Given the description of an element on the screen output the (x, y) to click on. 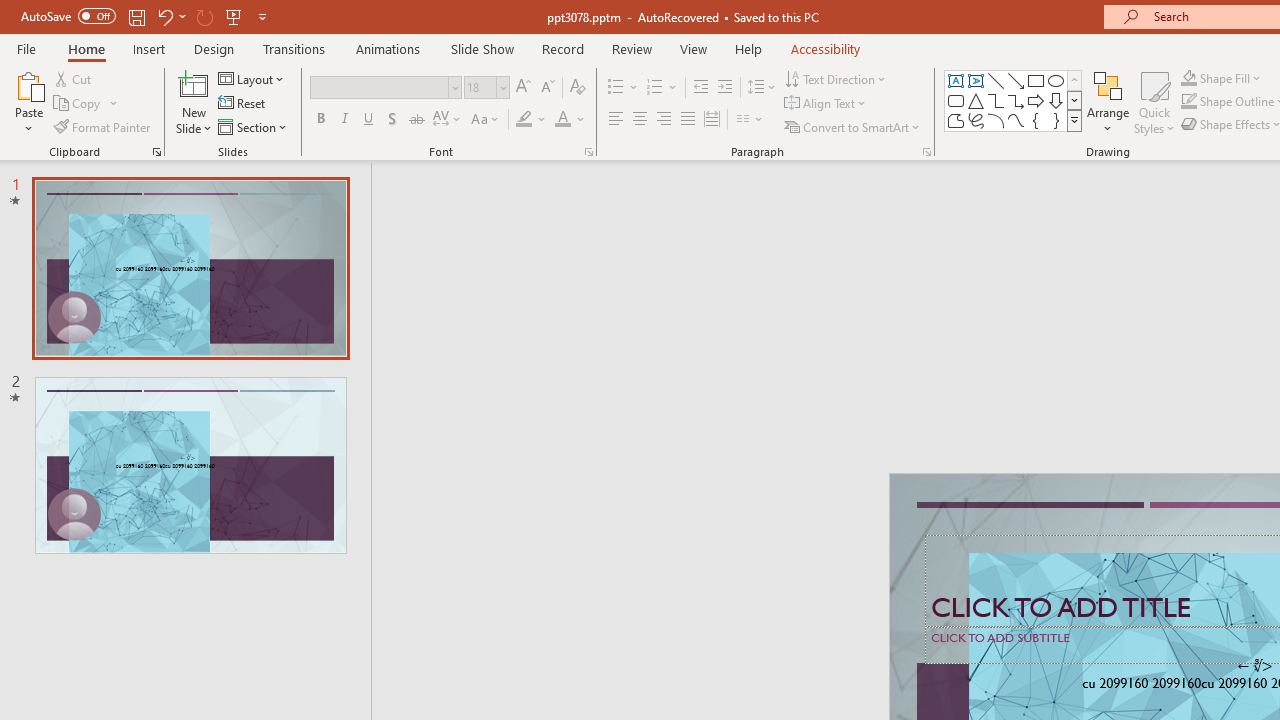
Shape Fill Dark Green, Accent 2 (1188, 78)
Shape Outline Green, Accent 1 (1188, 101)
